Given the description of an element on the screen output the (x, y) to click on. 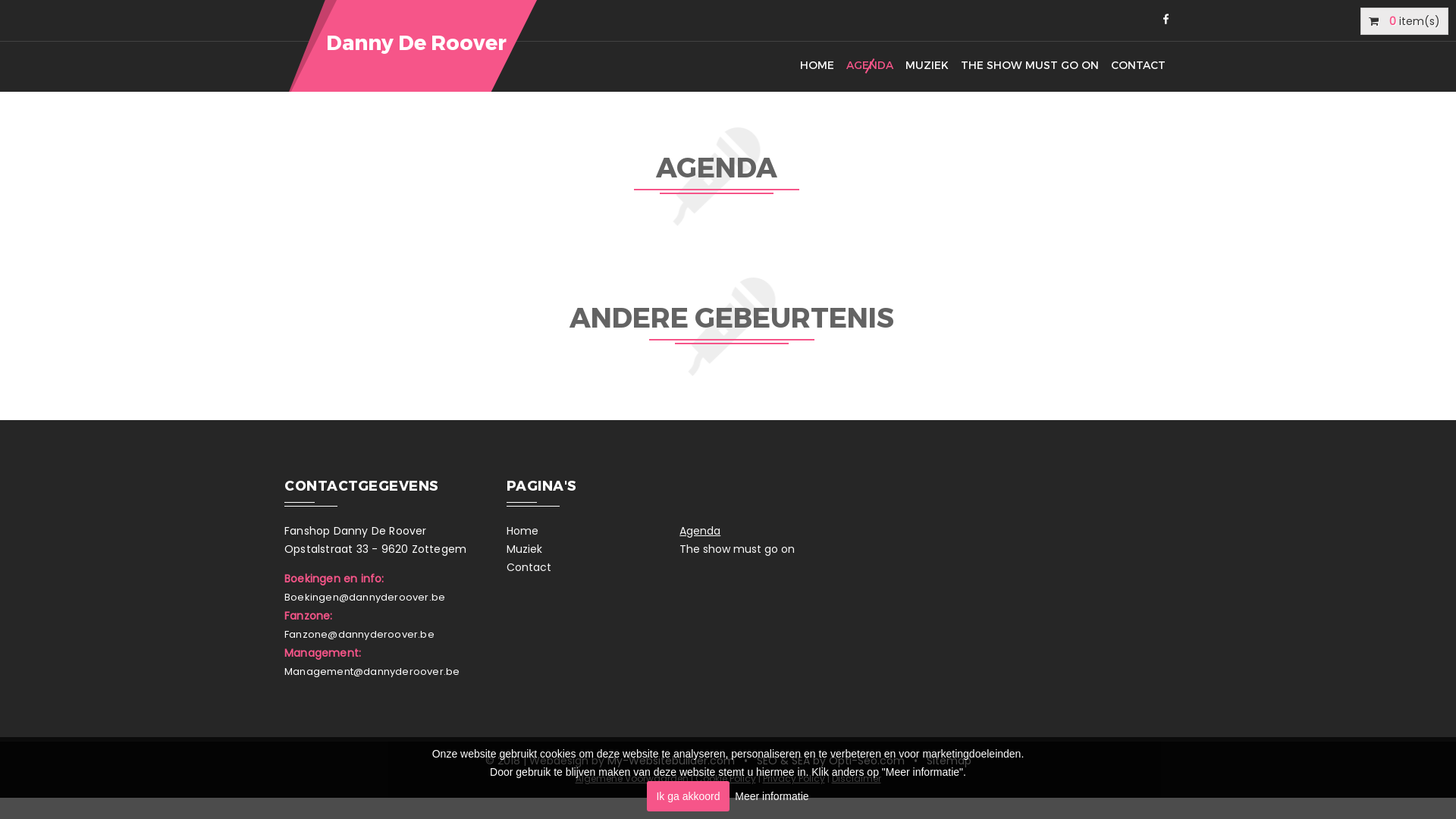
Opti-Seo.com Element type: text (865, 760)
Sitemap Element type: text (948, 760)
Fanzone@dannyderoover.be Element type: text (359, 634)
Danny De Roover Element type: text (414, 45)
Contact Element type: text (593, 567)
MUZIEK Element type: text (926, 65)
HOME Element type: text (816, 65)
Disclaimer Element type: text (855, 778)
Algemene Voorwaarden Element type: text (630, 778)
Meer informatie Element type: text (771, 796)
THE SHOW MUST GO ON Element type: text (1029, 65)
Agenda Element type: text (766, 530)
Ik ga akkoord Element type: text (687, 796)
My-Websitebuilder.com Element type: text (670, 760)
Cookie Policy Element type: text (724, 778)
Boekingen@dannyderoover.be Element type: text (364, 597)
CONTACT Element type: text (1137, 65)
Muziek Element type: text (593, 548)
Management@dannyderoover.be Element type: text (371, 671)
AGENDA Element type: text (869, 65)
The show must go on Element type: text (766, 548)
Privacy Policy Element type: text (793, 778)
Home Element type: text (593, 530)
